Given the description of an element on the screen output the (x, y) to click on. 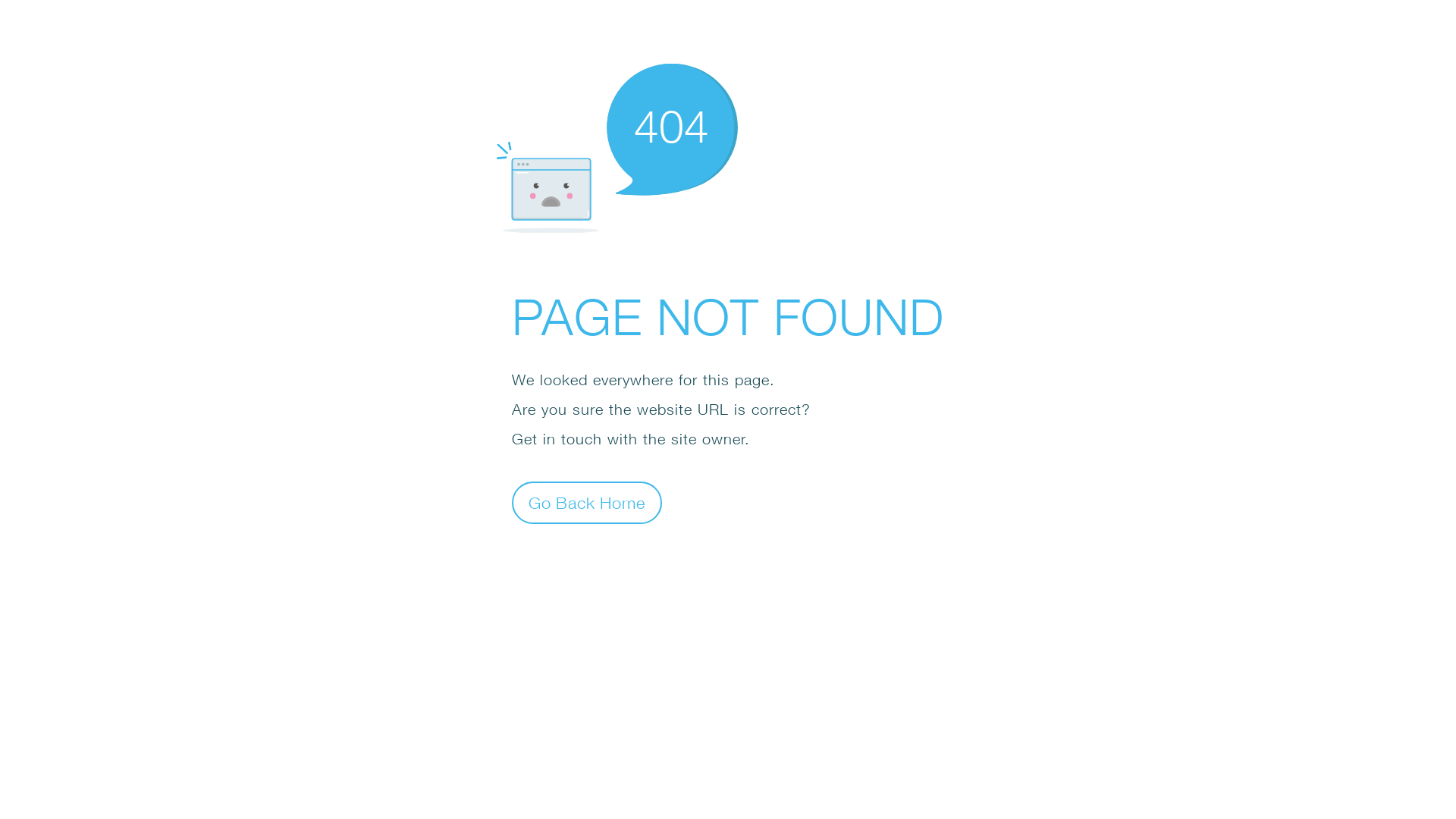
Go Back Home Element type: text (586, 502)
